Given the description of an element on the screen output the (x, y) to click on. 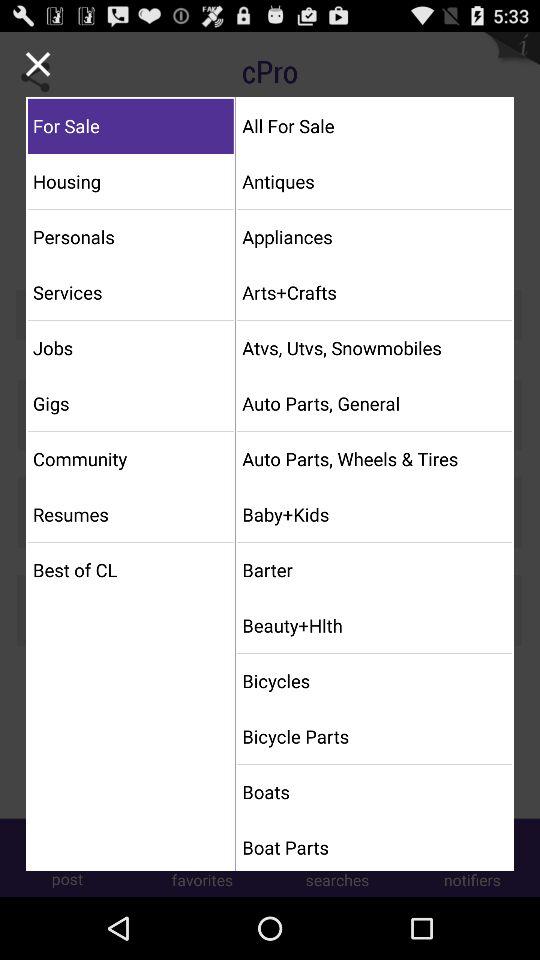
jump to services app (130, 292)
